Given the description of an element on the screen output the (x, y) to click on. 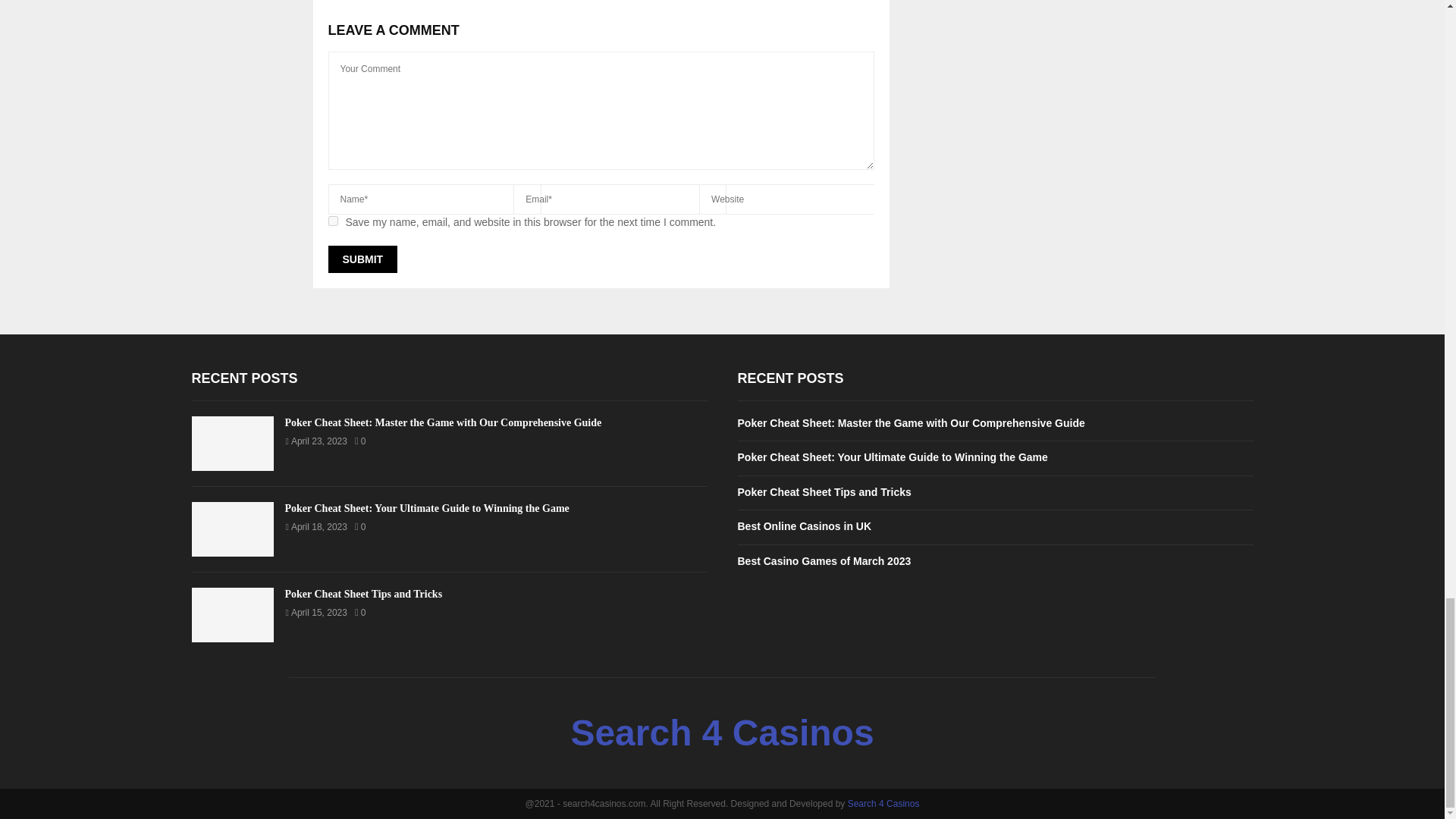
yes (332, 221)
Submit (362, 258)
